Given the description of an element on the screen output the (x, y) to click on. 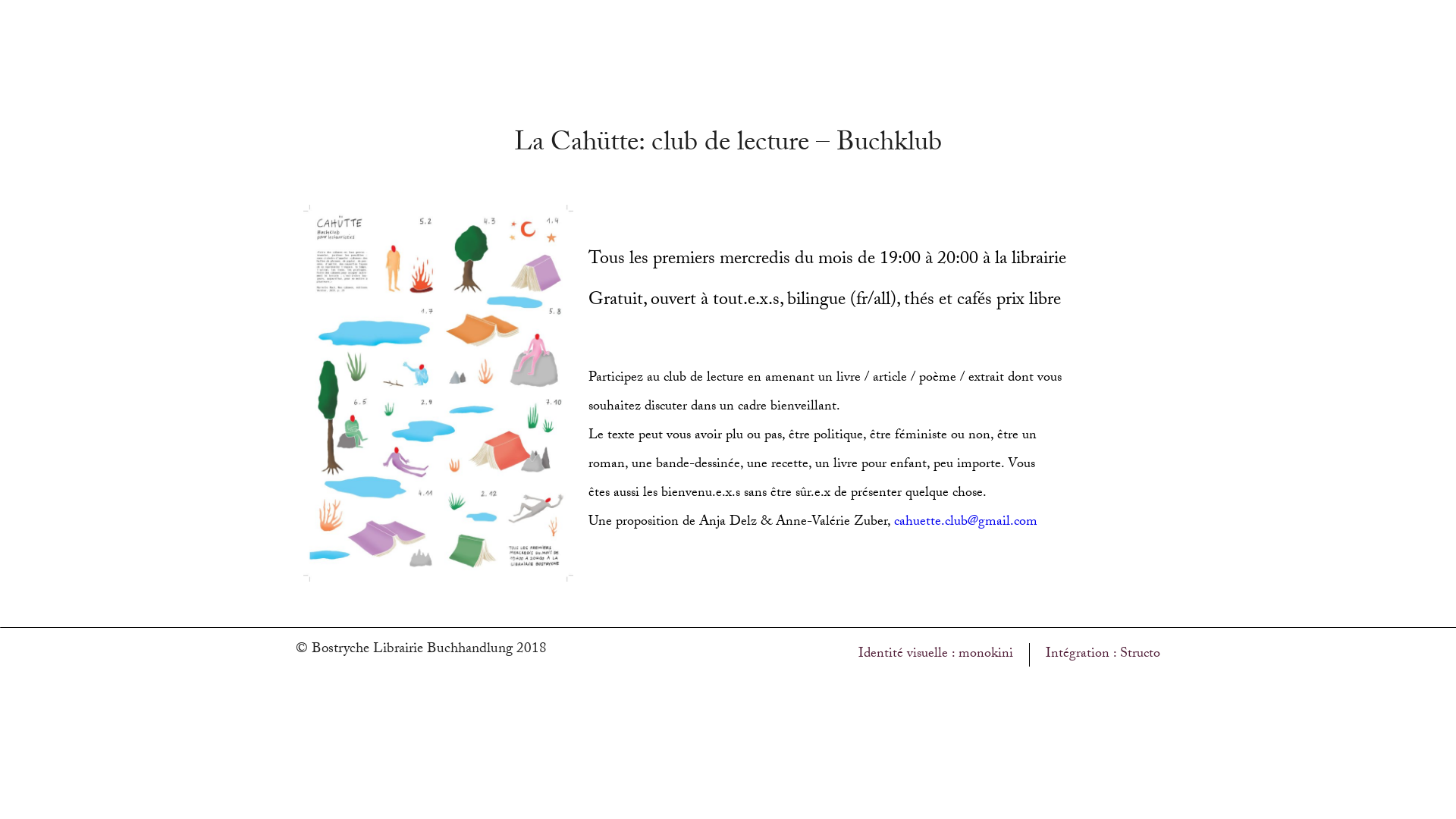
Lien Element type: text (727, 28)
Contact Element type: text (602, 28)
cahuette.club@gmail.com Element type: text (965, 522)
Agenda Element type: text (466, 28)
F Element type: text (1106, 28)
D Element type: text (1136, 28)
Accueil Element type: text (331, 28)
